Given the description of an element on the screen output the (x, y) to click on. 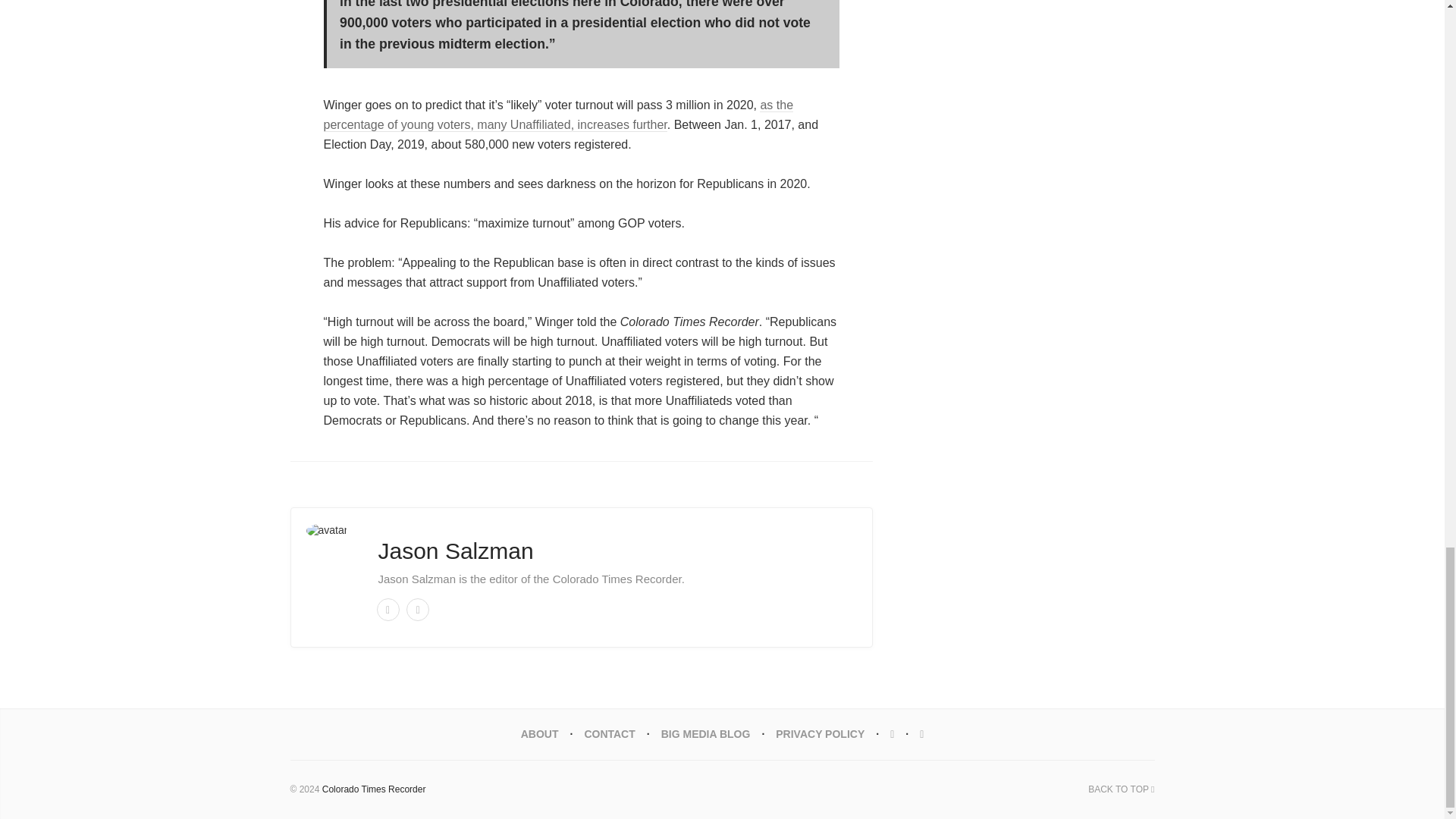
Email (386, 609)
BACK TO TOP  (1120, 789)
Jason Salzman (454, 550)
